Given the description of an element on the screen output the (x, y) to click on. 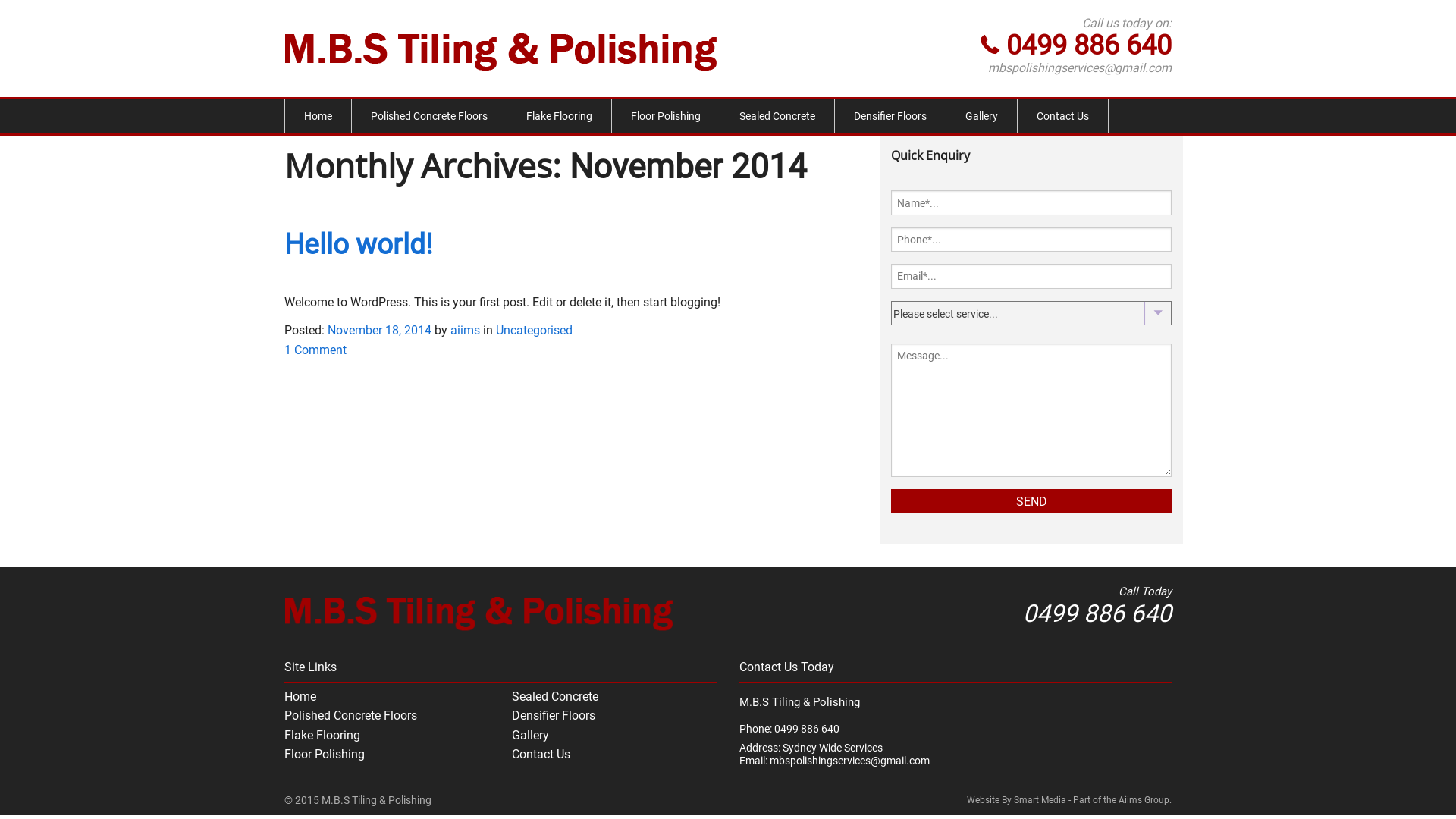
Gallery Element type: text (981, 116)
Contact Us Element type: text (1062, 116)
Densifier Floors Element type: text (553, 715)
Floor Polishing Element type: text (665, 116)
aiims Element type: text (465, 330)
1 Comment Element type: text (315, 349)
Contact Us Element type: text (540, 753)
M.B.S Tiling & Polishing Element type: hover (500, 48)
0499 886 640 Element type: text (1096, 613)
Sealed Concrete Element type: text (554, 696)
Website Element type: text (982, 799)
Polished Concrete Floors Element type: text (428, 116)
Floor Polishing Element type: text (324, 753)
SEND Element type: text (1031, 500)
M.B.S Tiling & Polishing Element type: hover (478, 610)
Flake Flooring Element type: text (322, 735)
Flake Flooring Element type: text (559, 116)
Smart Media - Part of the Aiims Group Element type: text (1091, 799)
November 18, 2014 Element type: text (379, 330)
Densifier Floors Element type: text (889, 116)
Polished Concrete Floors Element type: text (350, 715)
Hello world! Element type: text (358, 244)
Gallery Element type: text (530, 735)
Sealed Concrete Element type: text (777, 116)
0499 886 640 Element type: text (1088, 45)
Home Element type: text (300, 696)
Uncategorised Element type: text (533, 330)
Home Element type: text (318, 116)
